Given the description of an element on the screen output the (x, y) to click on. 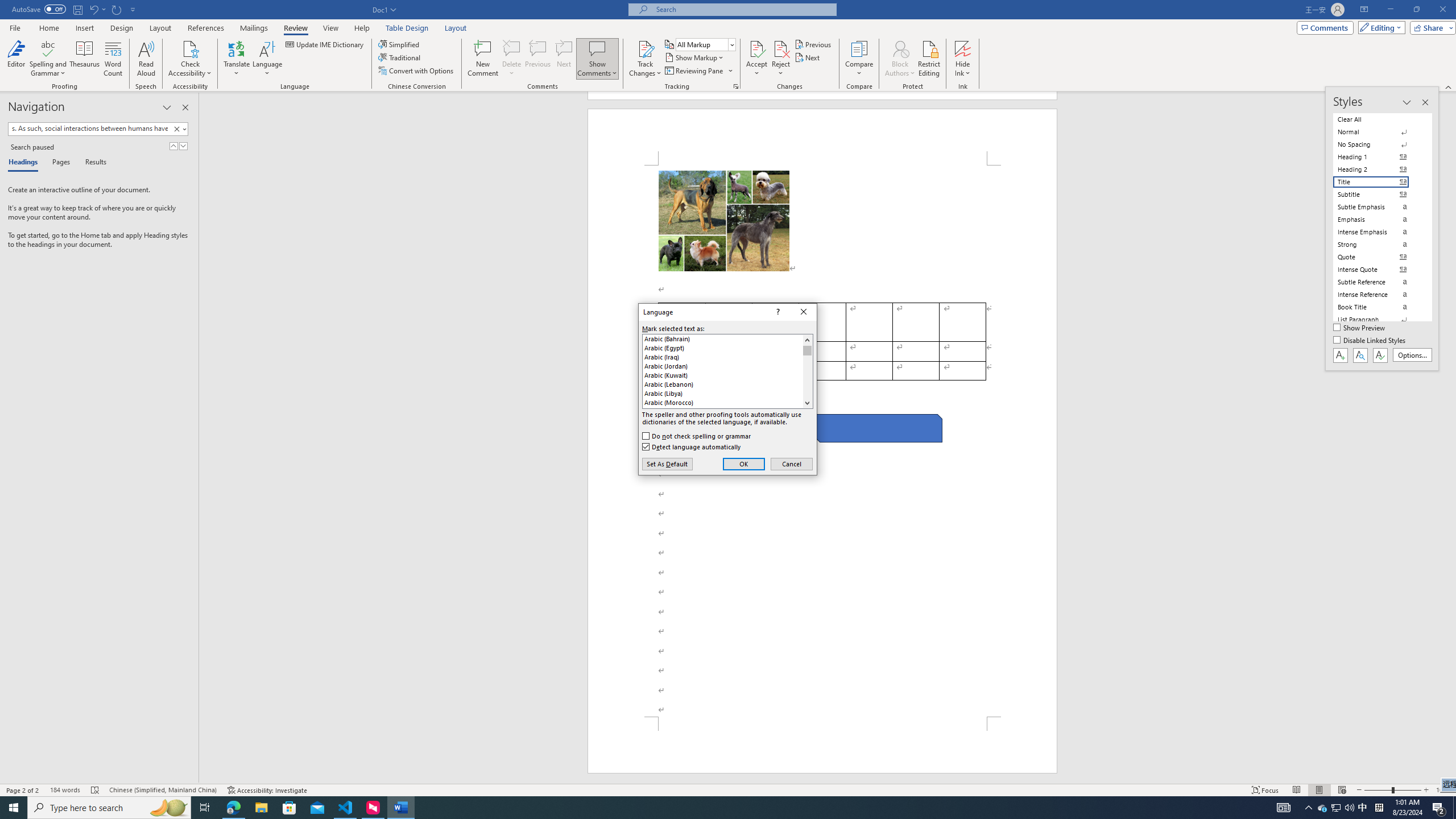
Subtle Reference (1377, 282)
Clear (1362, 807)
Traditional (178, 128)
Reject (400, 56)
Track Changes (780, 58)
Emphasis (644, 58)
Word Count 184 words (1377, 219)
Tray Input Indicator - Chinese (Simplified, China) (64, 790)
